Given the description of an element on the screen output the (x, y) to click on. 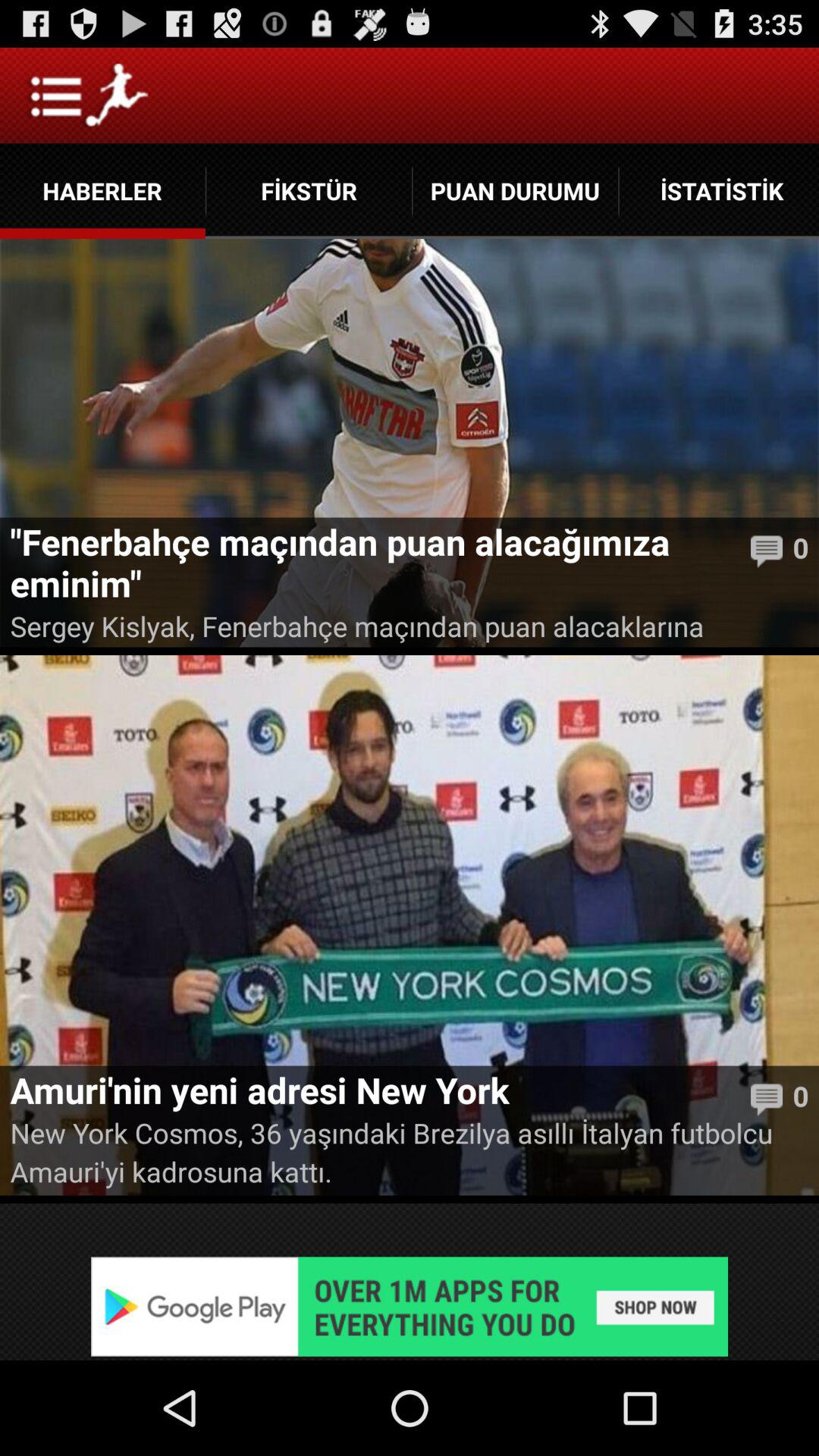
go to advertisement (409, 1306)
